Given the description of an element on the screen output the (x, y) to click on. 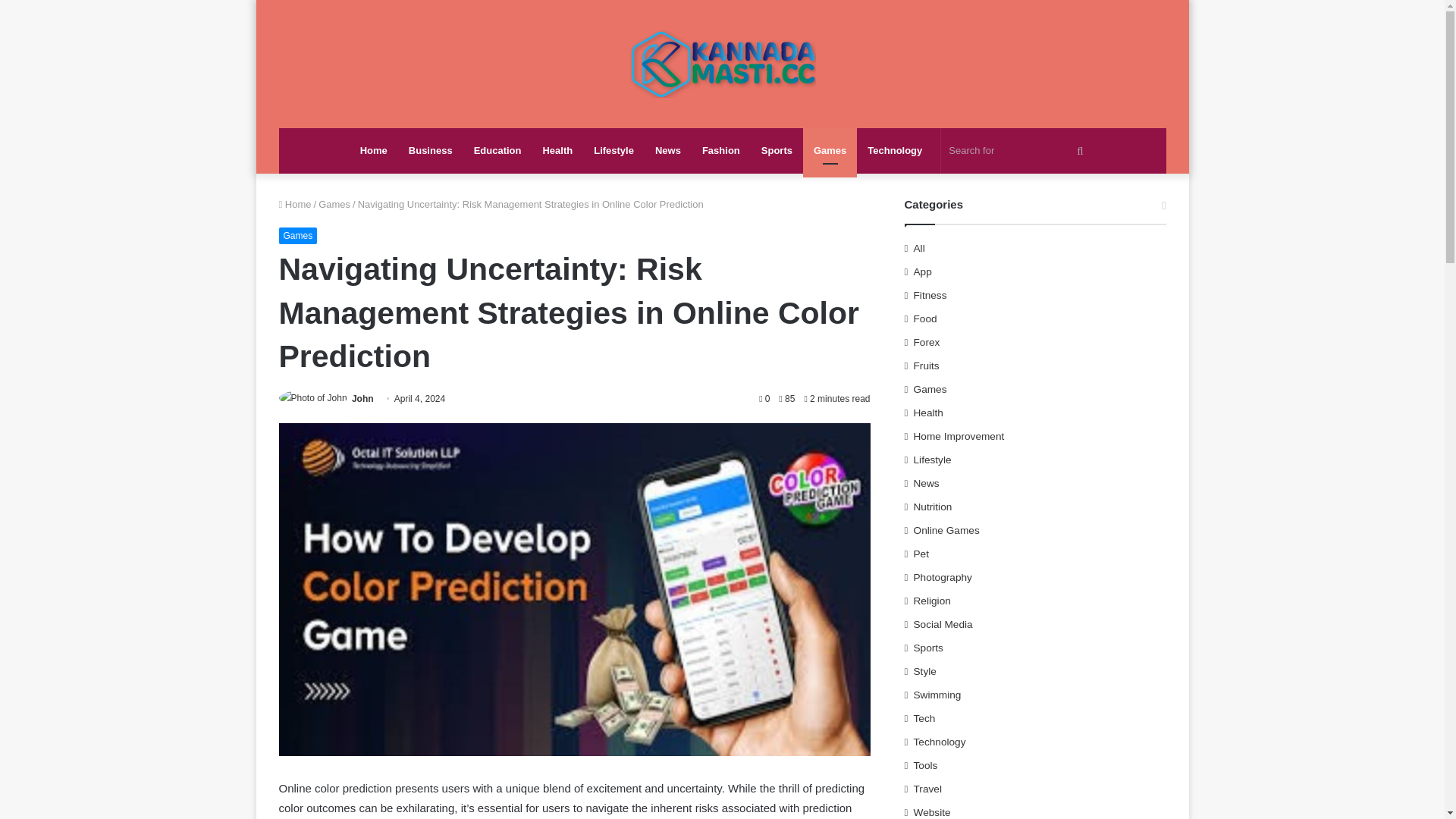
Sports (777, 150)
Search for (1017, 150)
Health (557, 150)
News (668, 150)
Fashion (721, 150)
Lifestyle (614, 150)
Home (295, 204)
John (363, 398)
Business (430, 150)
John (363, 398)
Home (373, 150)
Education (497, 150)
Games (334, 204)
Games (298, 235)
Technology (895, 150)
